Given the description of an element on the screen output the (x, y) to click on. 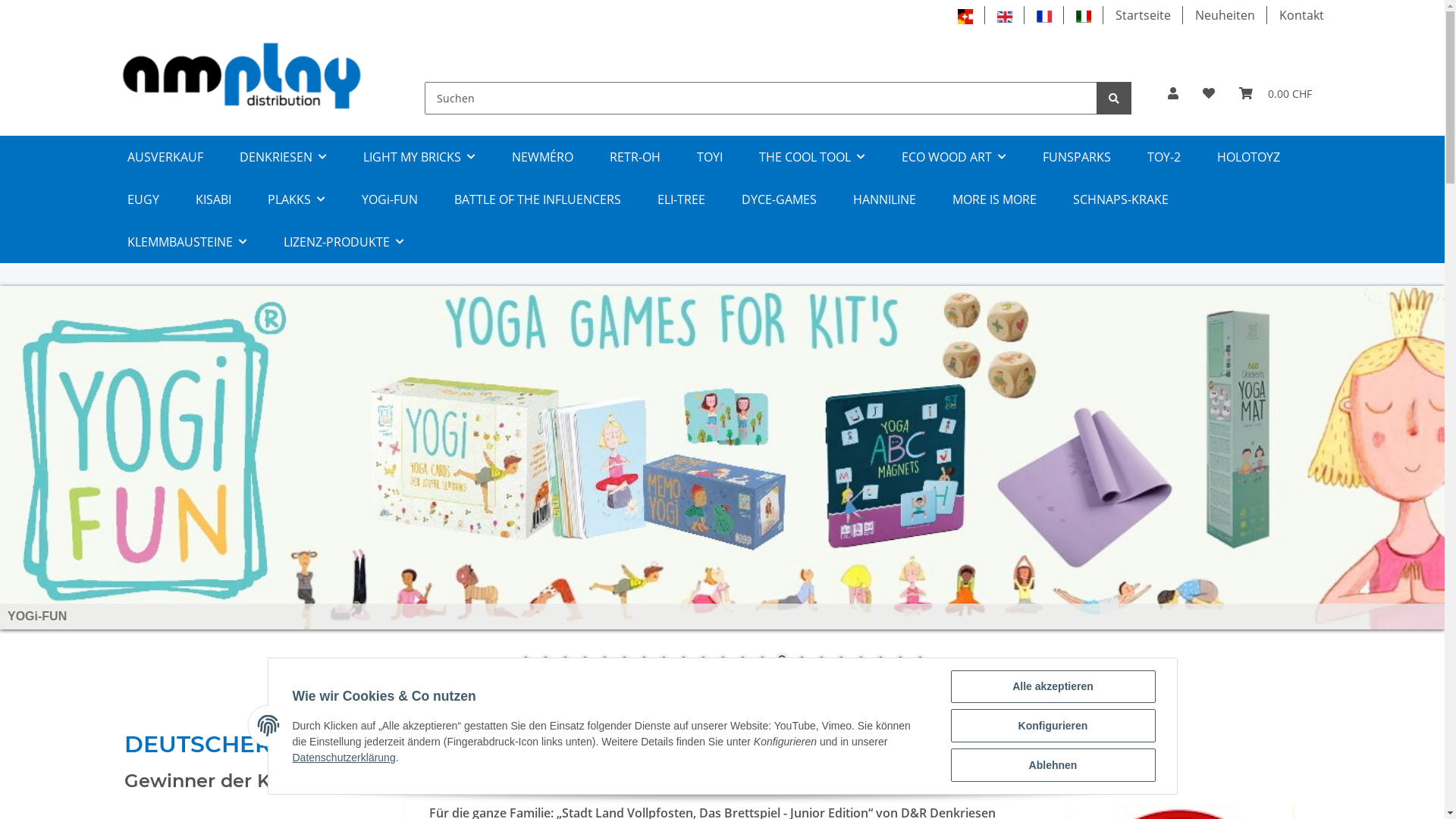
12 Element type: text (742, 660)
Ablehnen Element type: text (1052, 764)
20 Element type: text (899, 660)
13 Element type: text (761, 660)
18 Element type: text (860, 660)
2 Element type: text (544, 660)
RETR-OH Element type: text (634, 156)
FUNSPARKS Element type: text (1075, 156)
KISABI Element type: text (213, 199)
7 Element type: text (643, 660)
11 Element type: text (722, 660)
THE COOL TOOL Element type: text (811, 156)
HOLOTOYZ Element type: text (1247, 156)
ECO WOOD ART Element type: text (952, 156)
Alle akzeptieren Element type: text (1052, 686)
14 Element type: text (781, 660)
MORE IS MORE Element type: text (994, 199)
amplay AG Element type: hover (242, 75)
17 Element type: text (840, 660)
BATTLE OF THE INFLUENCERS Element type: text (536, 199)
TOY-2 Element type: text (1163, 156)
21 Element type: text (919, 660)
LIZENZ-PRODUKTE Element type: text (343, 241)
DENKRIESEN Element type: text (283, 156)
Kontakt Element type: text (1300, 15)
6 Element type: text (623, 660)
Neuheiten Element type: text (1225, 15)
5 Element type: text (604, 660)
Startseite Element type: text (1142, 15)
1 Element type: text (525, 660)
Konfigurieren Element type: text (1052, 725)
8 Element type: text (663, 660)
10 Element type: text (702, 660)
PLAKKS Element type: text (295, 199)
TOYI Element type: text (708, 156)
YOGi-FUN Element type: text (388, 199)
16 Element type: text (820, 660)
19 Element type: text (880, 660)
4 Element type: text (584, 660)
3 Element type: text (564, 660)
15 Element type: text (801, 660)
DYCE-GAMES Element type: text (778, 199)
KLEMMBAUSTEINE Element type: text (187, 241)
9 Element type: text (682, 660)
AUSVERKAUF Element type: text (165, 156)
EUGY Element type: text (143, 199)
HANNILINE Element type: text (883, 199)
SCHNAPS-KRAKE Element type: text (1120, 199)
LIGHT MY BRICKS Element type: text (418, 156)
0.00 CHF Element type: text (1275, 92)
ELI-TREE Element type: text (680, 199)
